Given the description of an element on the screen output the (x, y) to click on. 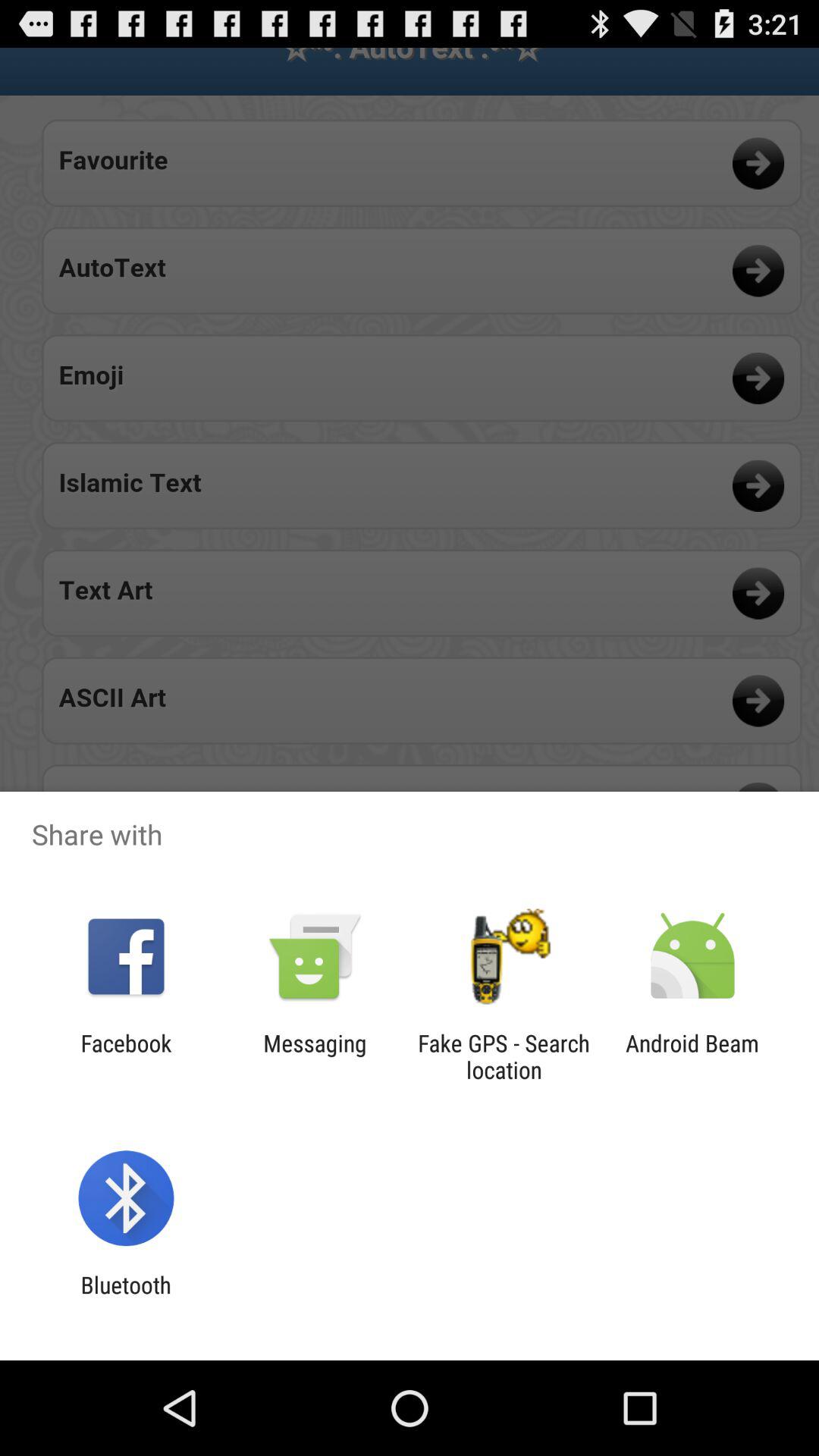
jump to fake gps search icon (503, 1056)
